Given the description of an element on the screen output the (x, y) to click on. 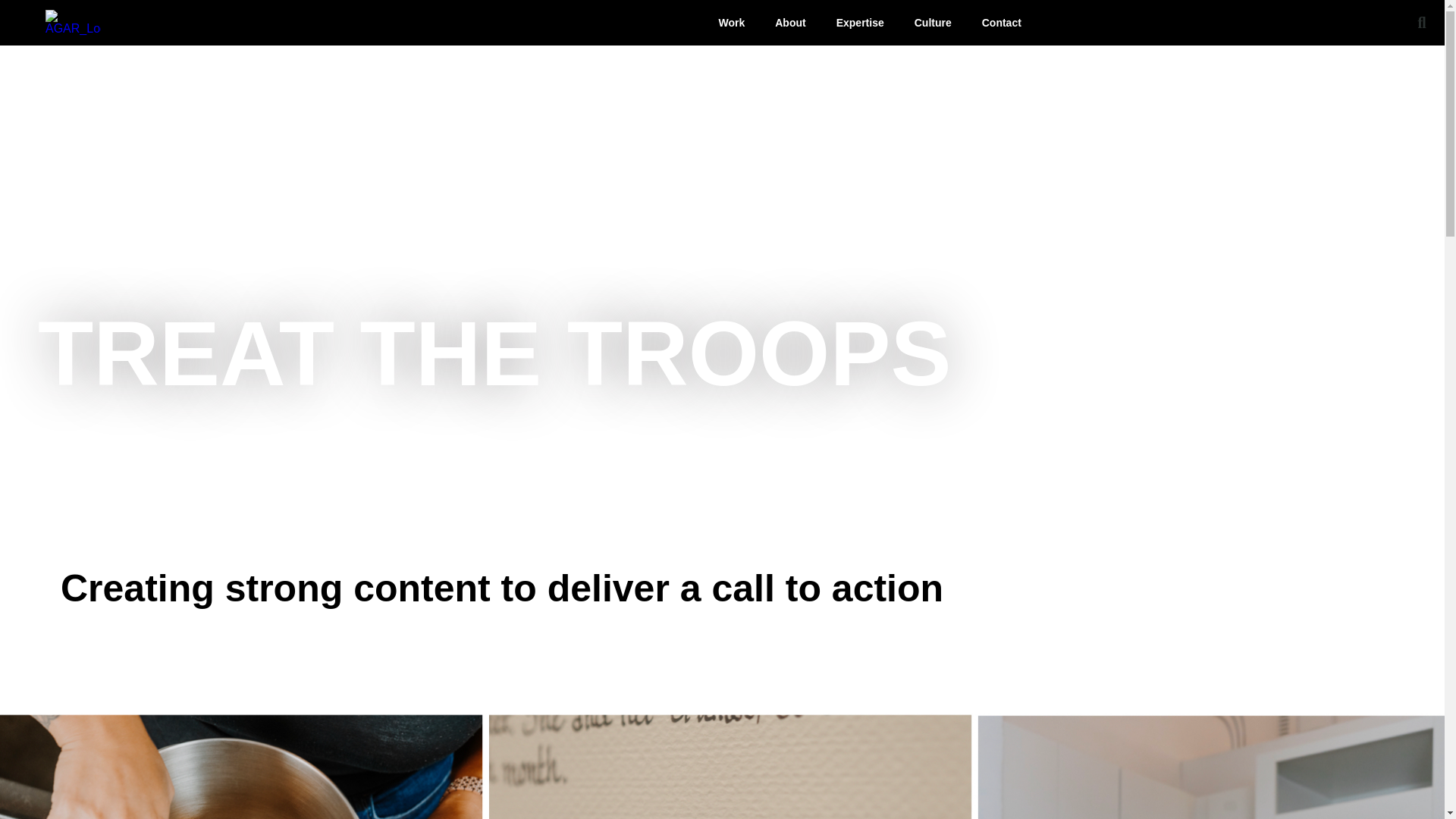
Expertise (860, 22)
Work (731, 22)
Culture (932, 22)
Contact (1001, 22)
About (790, 22)
